Given the description of an element on the screen output the (x, y) to click on. 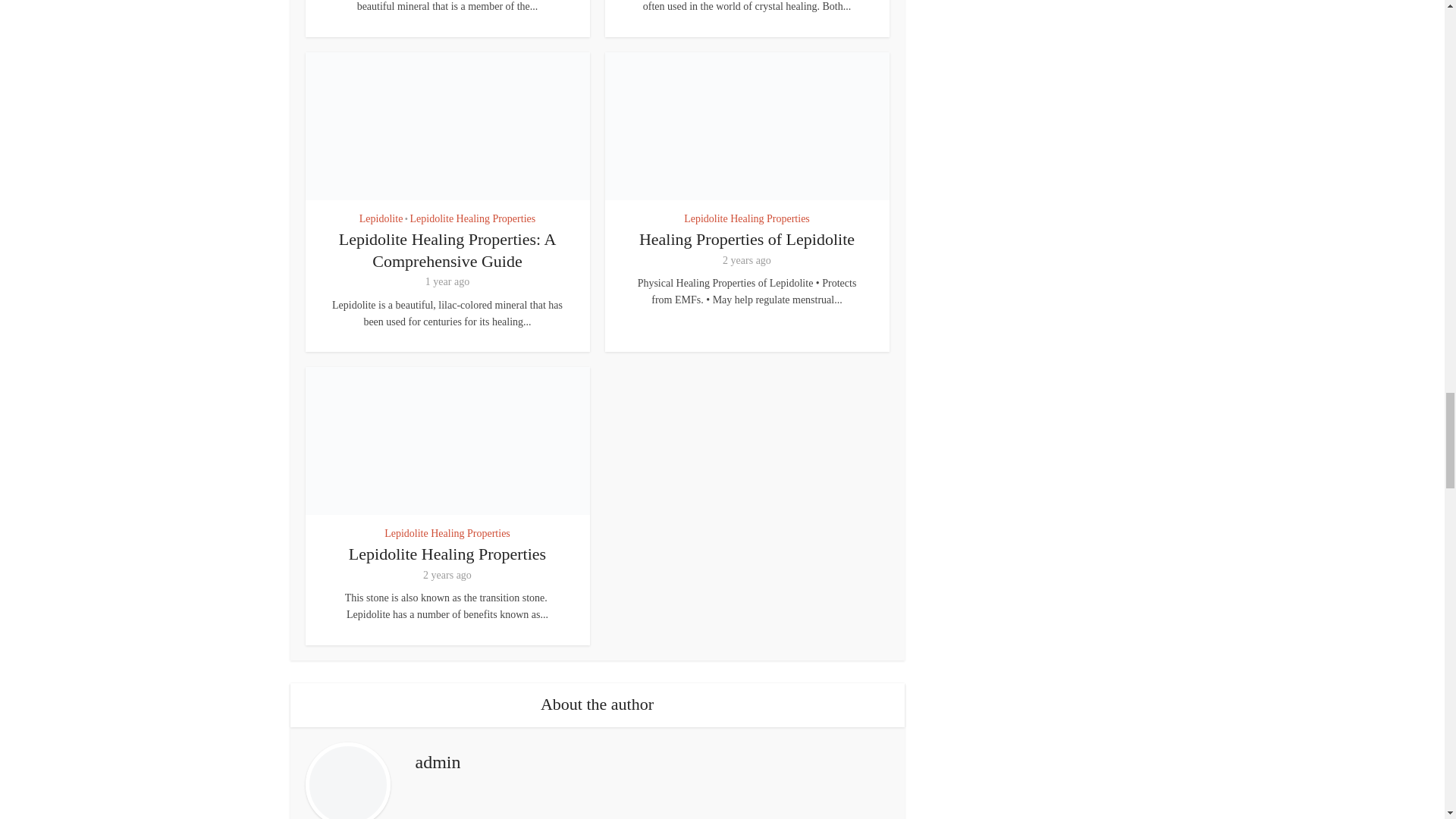
Healing Properties of Lepidolite (746, 239)
Lepidolite Healing Properties: A Comprehensive Guide (447, 250)
Lepidolite (381, 219)
Lepidolite Healing Properties (472, 219)
Lepidolite Healing Properties (746, 219)
Lepidolite Healing Properties: A Comprehensive Guide (447, 250)
Lepidolite Healing Properties (447, 553)
